Given the description of an element on the screen output the (x, y) to click on. 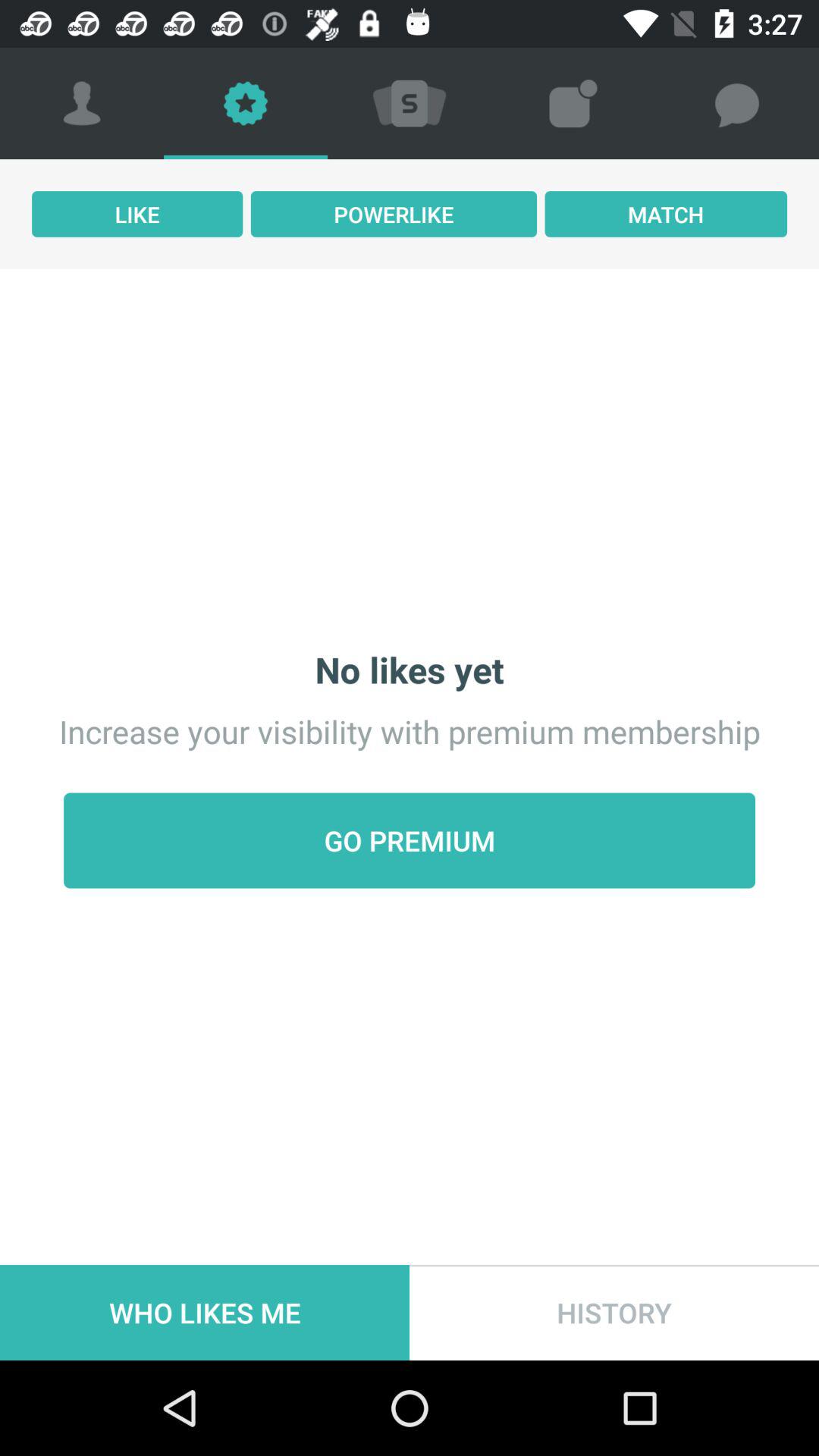
turn on item below increase your visibility icon (409, 840)
